Given the description of an element on the screen output the (x, y) to click on. 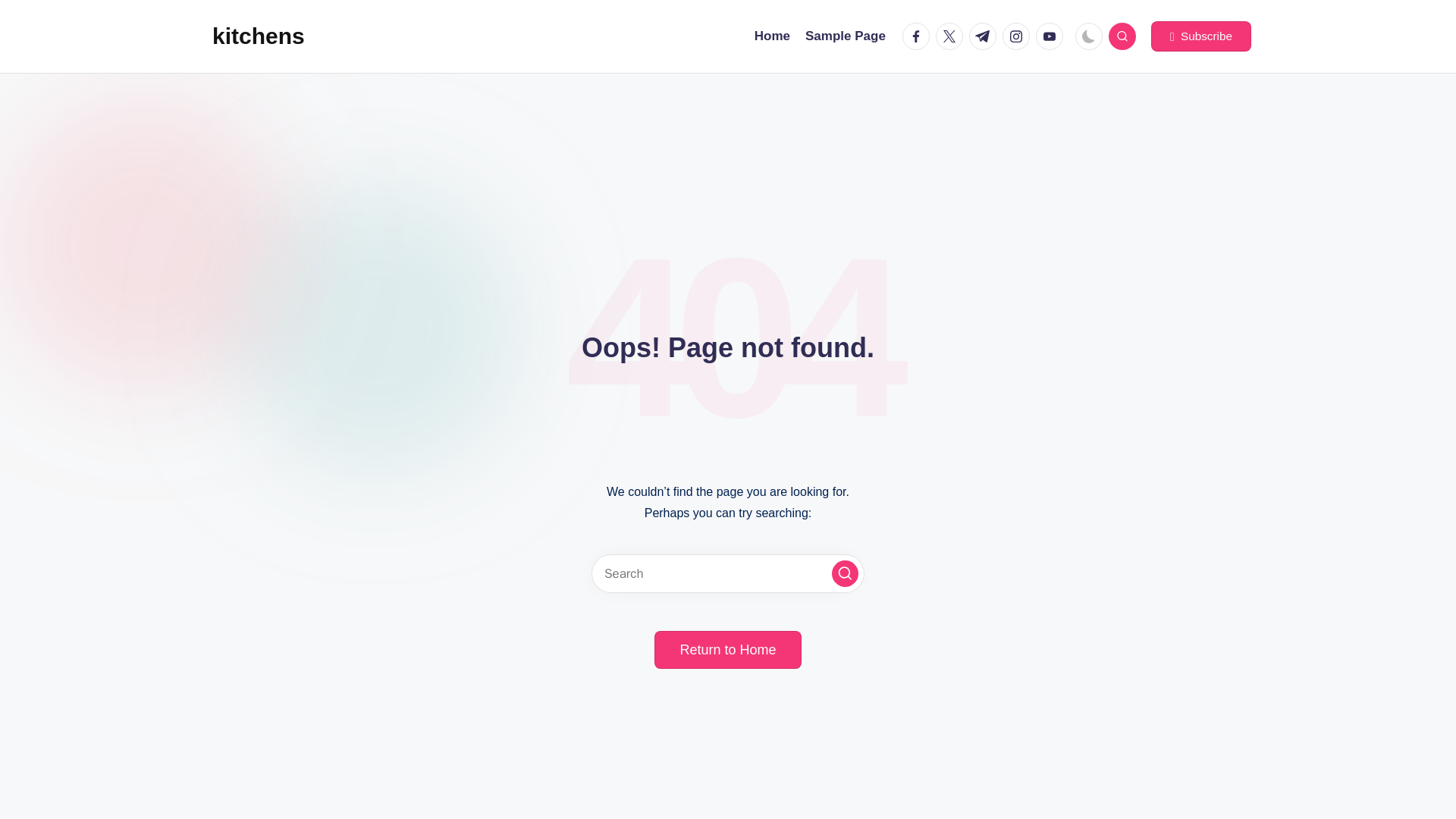
kitchens (258, 36)
t.me (986, 35)
Home (772, 36)
twitter.com (952, 35)
Sample Page (845, 36)
Return to Home (726, 649)
instagram.com (1019, 35)
facebook.com (919, 35)
Subscribe (1200, 36)
youtube.com (1051, 35)
